Given the description of an element on the screen output the (x, y) to click on. 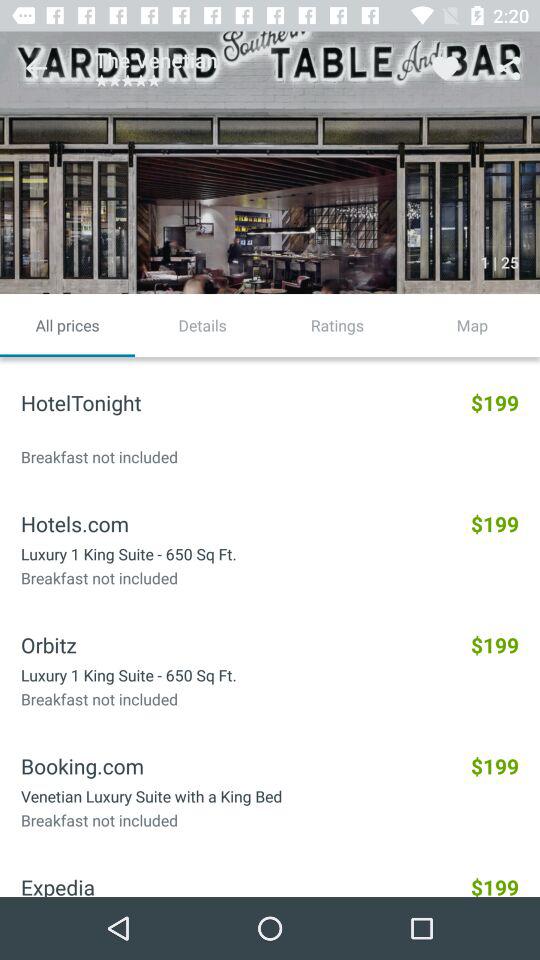
open icon next to details item (67, 325)
